Given the description of an element on the screen output the (x, y) to click on. 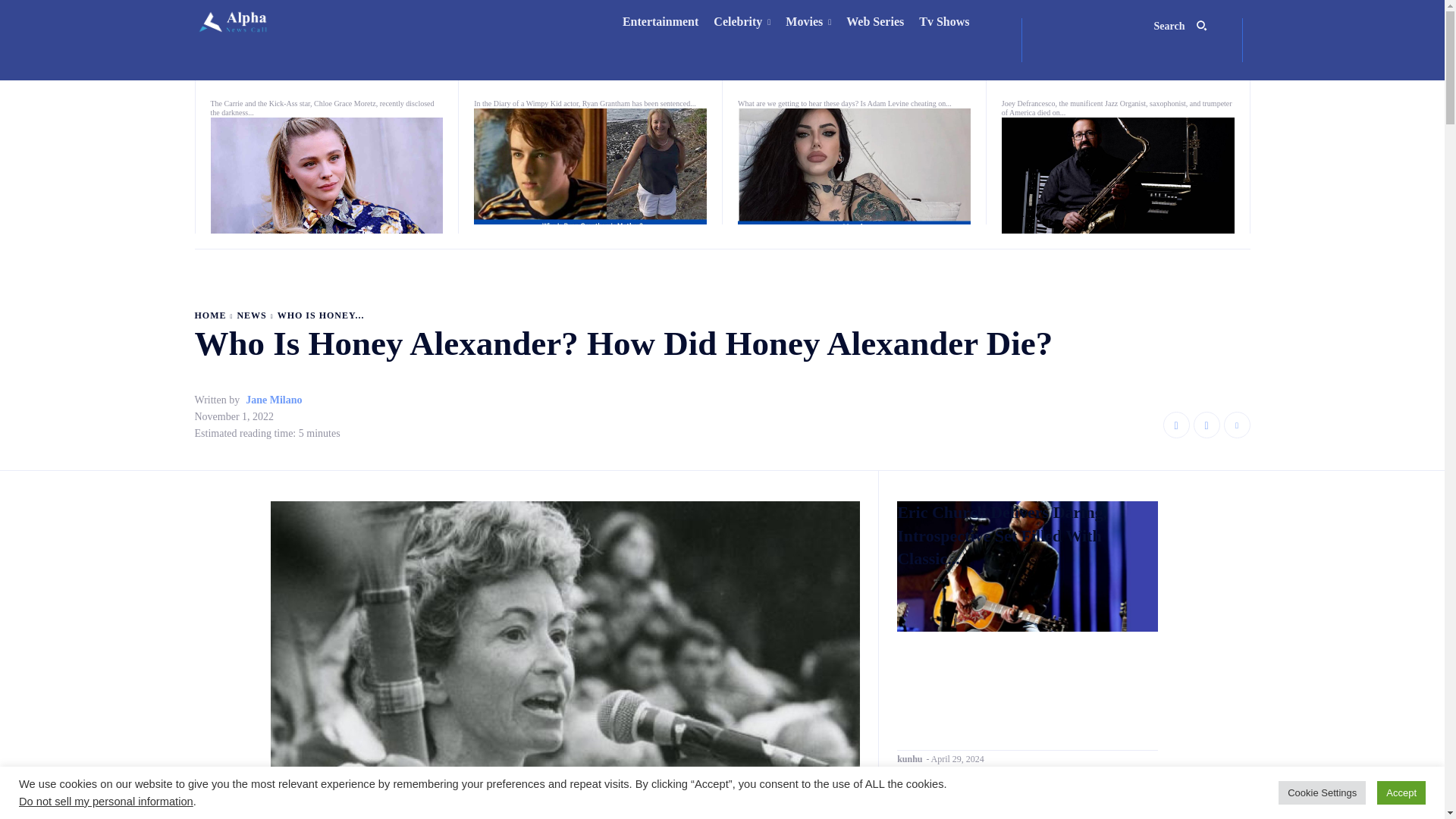
View all posts in News (250, 315)
Instagram (1206, 424)
Who Is Maryka? About Maryka And Adam Levine Affair Rumors! (787, 73)
Celebrity (741, 22)
Renowned American Jazz Organist Joey Defrancesco No More! (1073, 73)
Who Is Maryka? About Maryka And Adam Levine Affair Rumors! (854, 166)
Renowned American Jazz Organist Joey Defrancesco No More! (1117, 175)
Twitter (1237, 424)
Entertainment (660, 22)
Facebook (1176, 424)
